Given the description of an element on the screen output the (x, y) to click on. 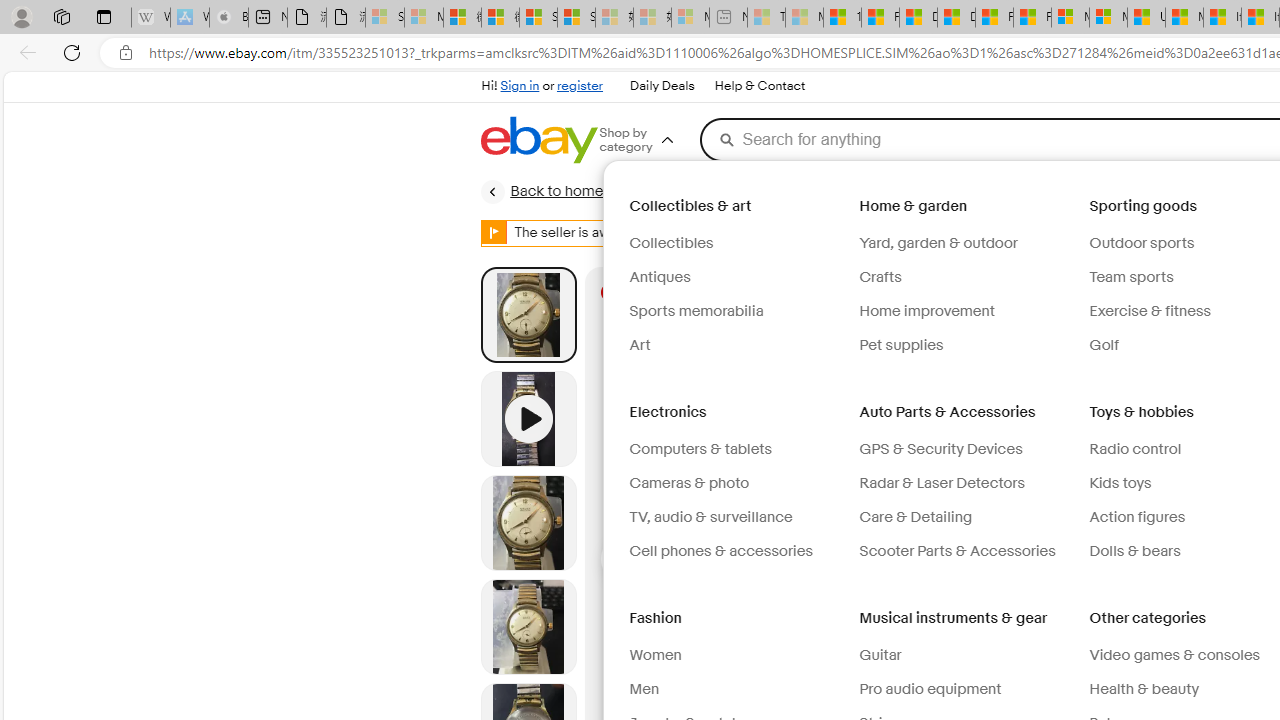
Collectibles (736, 243)
Crafts (966, 277)
Cameras & photo (736, 484)
Exercise & fitness (1150, 311)
Yard, garden & outdoor (938, 243)
Foo BAR | Trusted Community Engagement and Contributions (1031, 17)
Scooter Parts & Accessories (966, 551)
Picture 2 of 13 (528, 522)
Home improvement (927, 311)
Radar & Laser Detectors (966, 484)
Sports memorabilia (695, 311)
Toys & hobbies (1143, 412)
Opens image gallery (1243, 306)
